Given the description of an element on the screen output the (x, y) to click on. 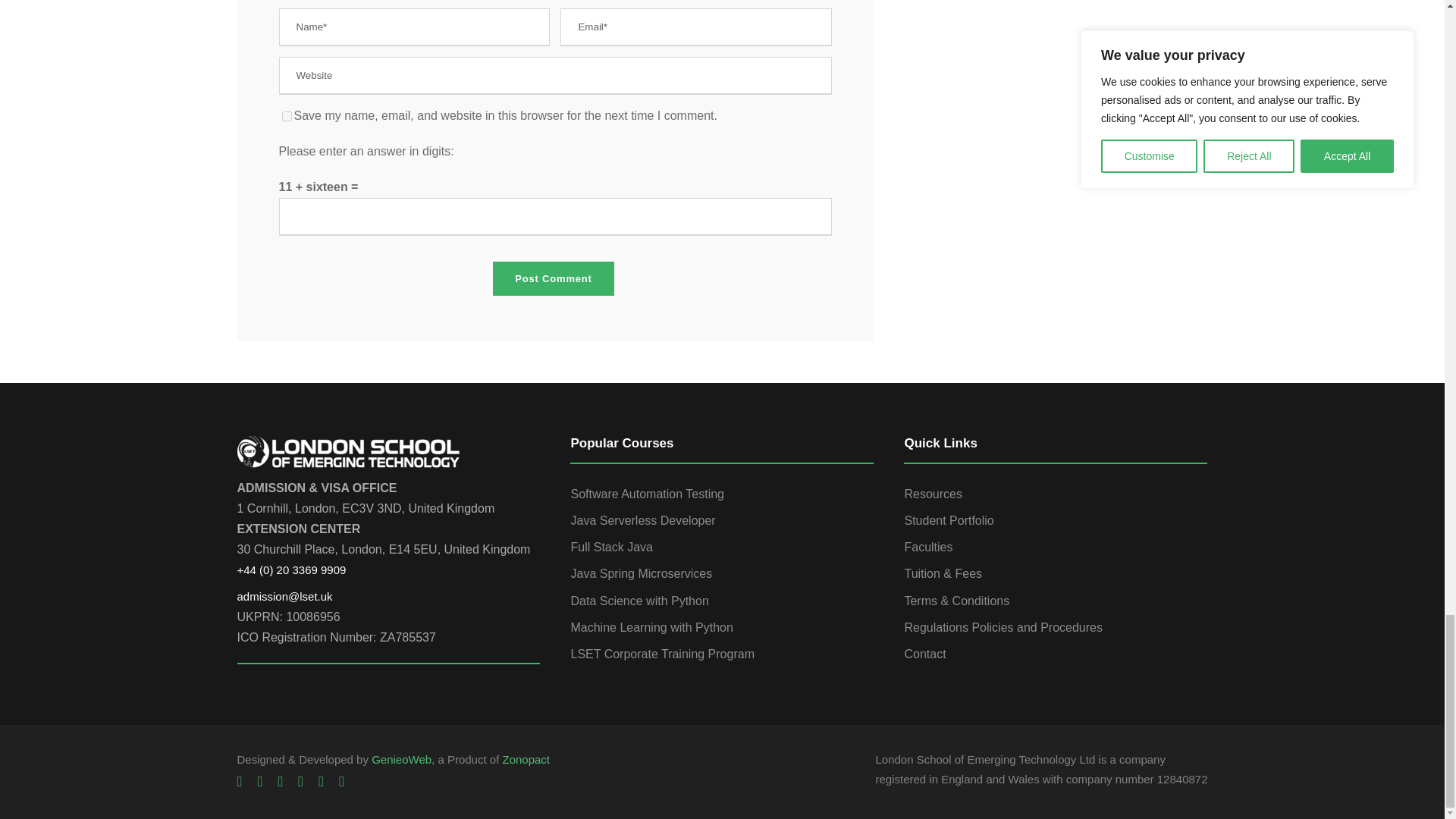
yes (287, 116)
Post Comment (552, 277)
